Given the description of an element on the screen output the (x, y) to click on. 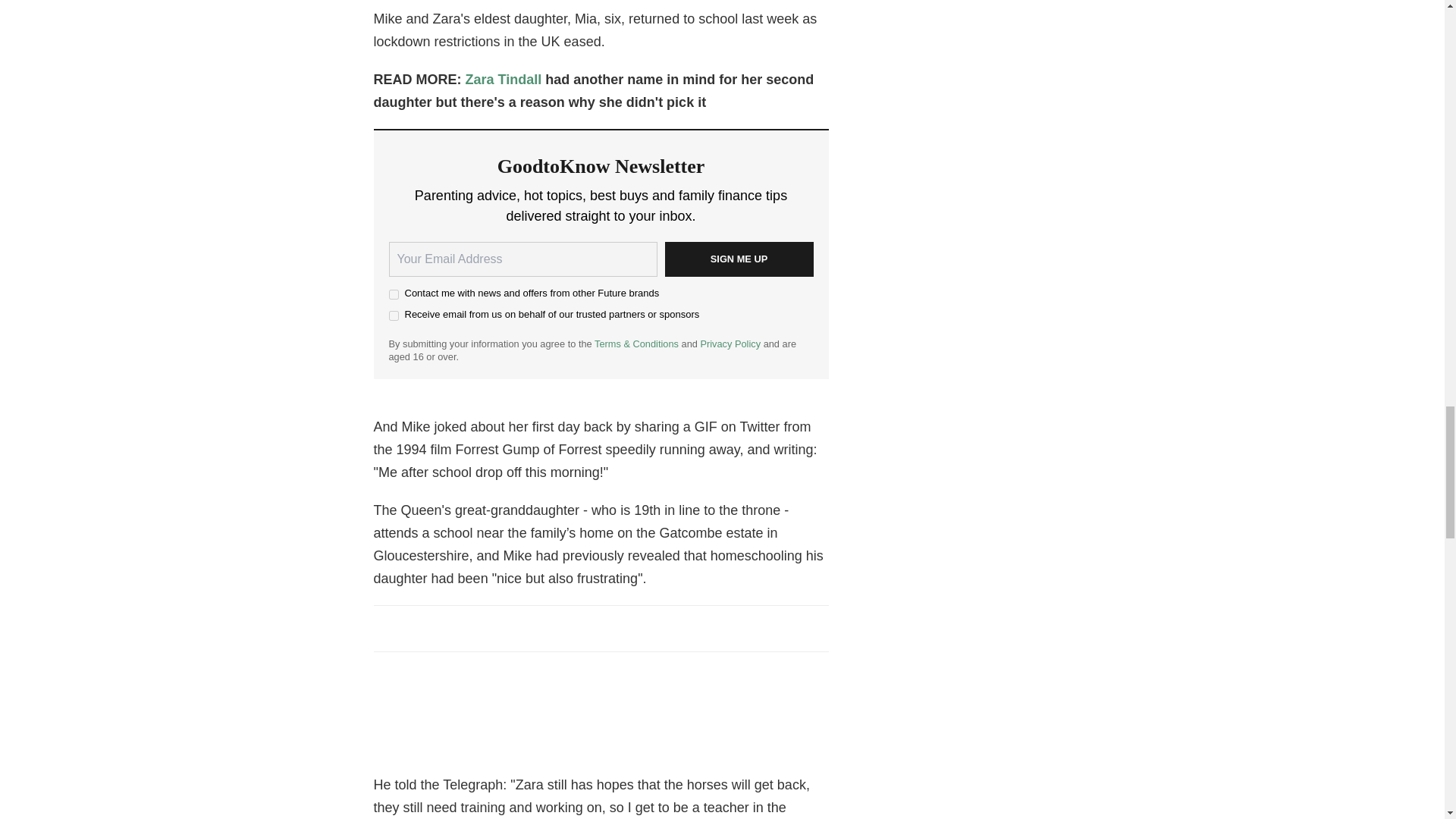
Sign me up (737, 258)
on (392, 316)
on (392, 294)
